Given the description of an element on the screen output the (x, y) to click on. 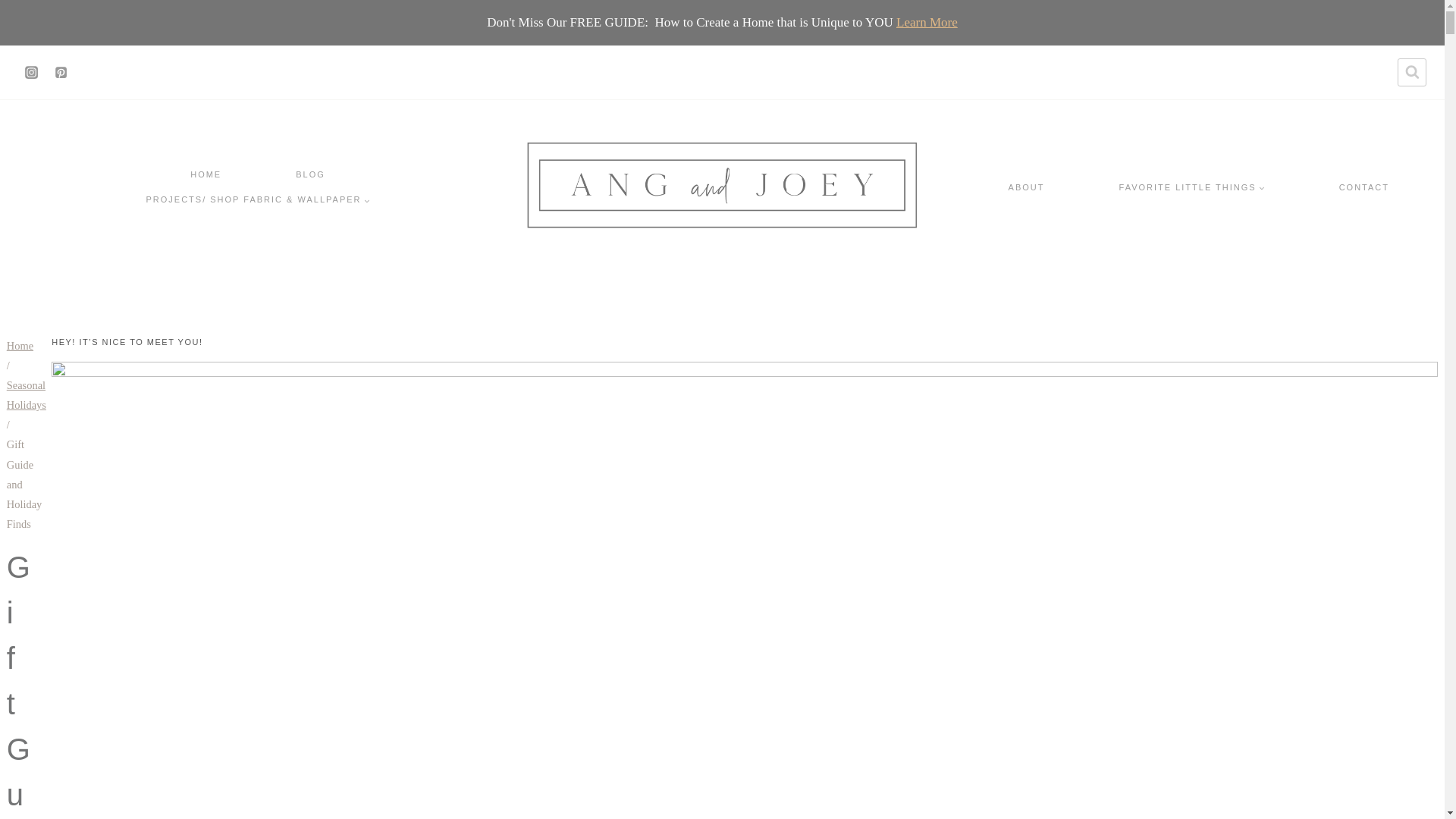
BLOG (310, 175)
ABOUT (1026, 187)
FAVORITE LITTLE THINGS (1191, 187)
Learn More (927, 22)
Seasonal Holidays (26, 395)
Home (20, 345)
HOME (205, 175)
CONTACT (1363, 187)
